Given the description of an element on the screen output the (x, y) to click on. 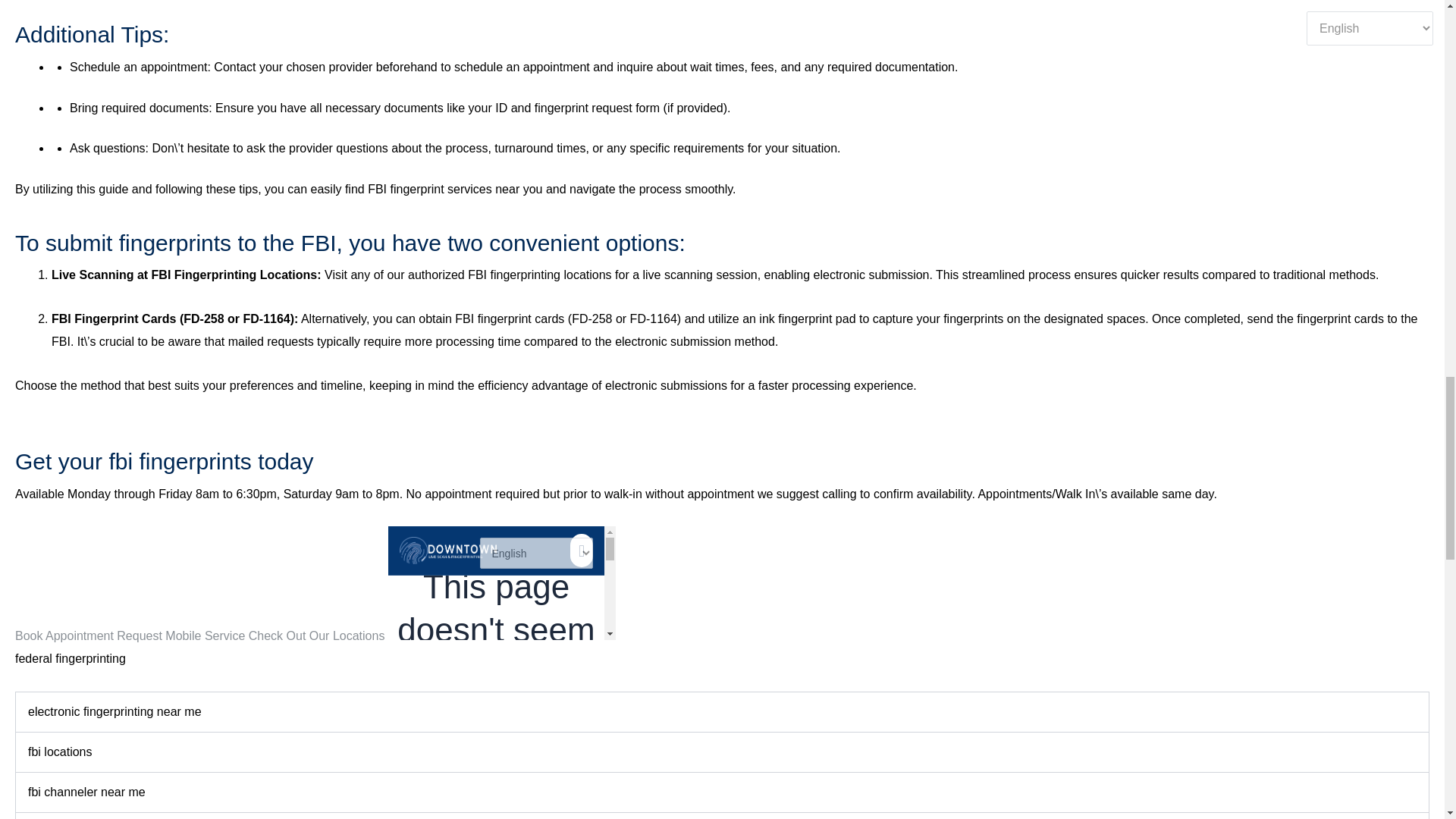
Request Mobile Service (181, 635)
Book Appointment (65, 635)
Check Out Our Locations (318, 635)
